Given the description of an element on the screen output the (x, y) to click on. 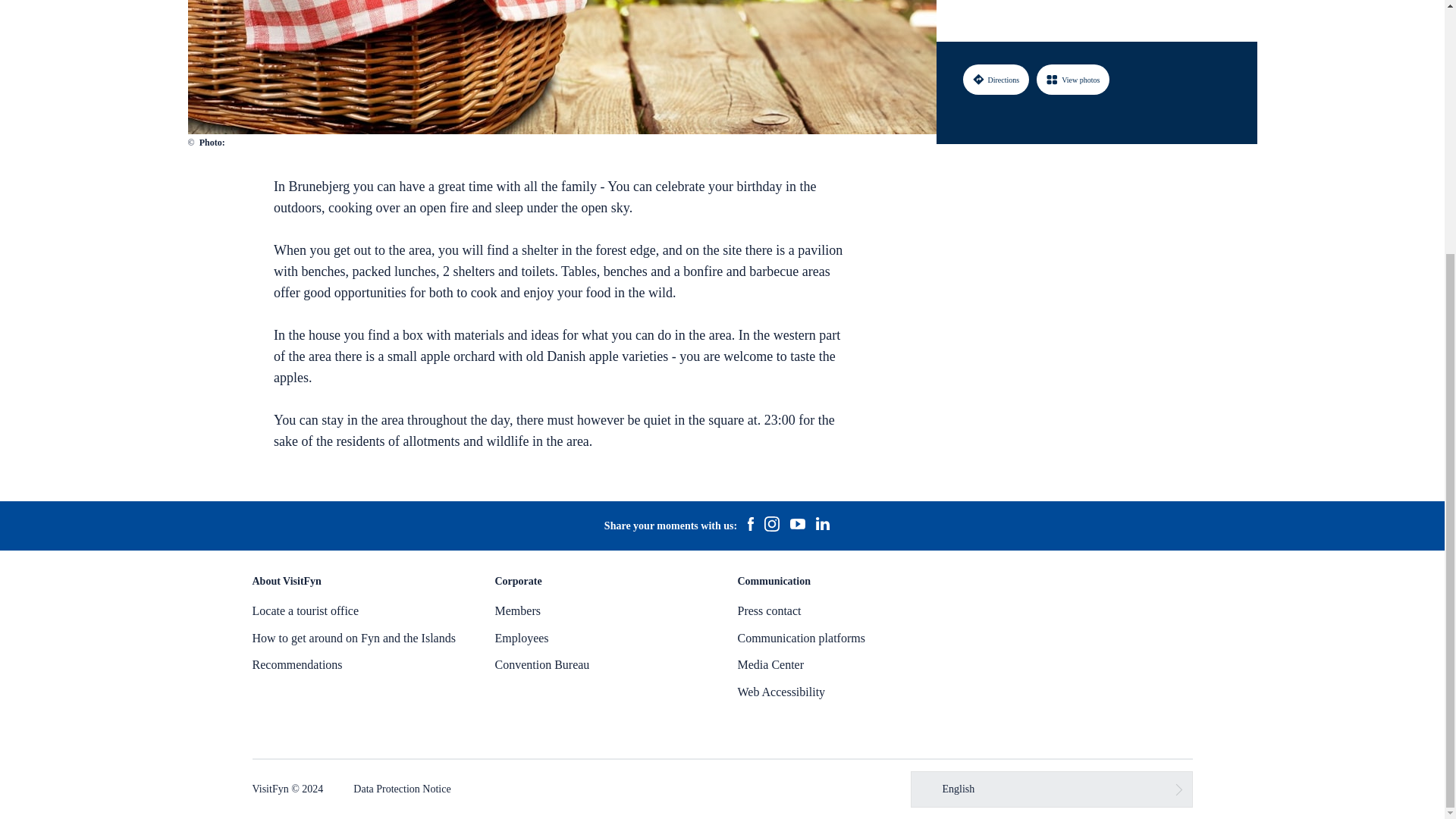
Communication platforms (800, 637)
Members (517, 610)
Press contact (768, 610)
Convention Bureau (542, 664)
Members (517, 610)
instagram (771, 526)
linkedin (822, 525)
How to get around on Fyn and the Islands (352, 637)
Employees (521, 637)
How to get around on Fyn and the Islands (352, 637)
Media Center (769, 664)
Media Center (769, 664)
Employees (521, 637)
youtube (797, 525)
Communication platforms (800, 637)
